Given the description of an element on the screen output the (x, y) to click on. 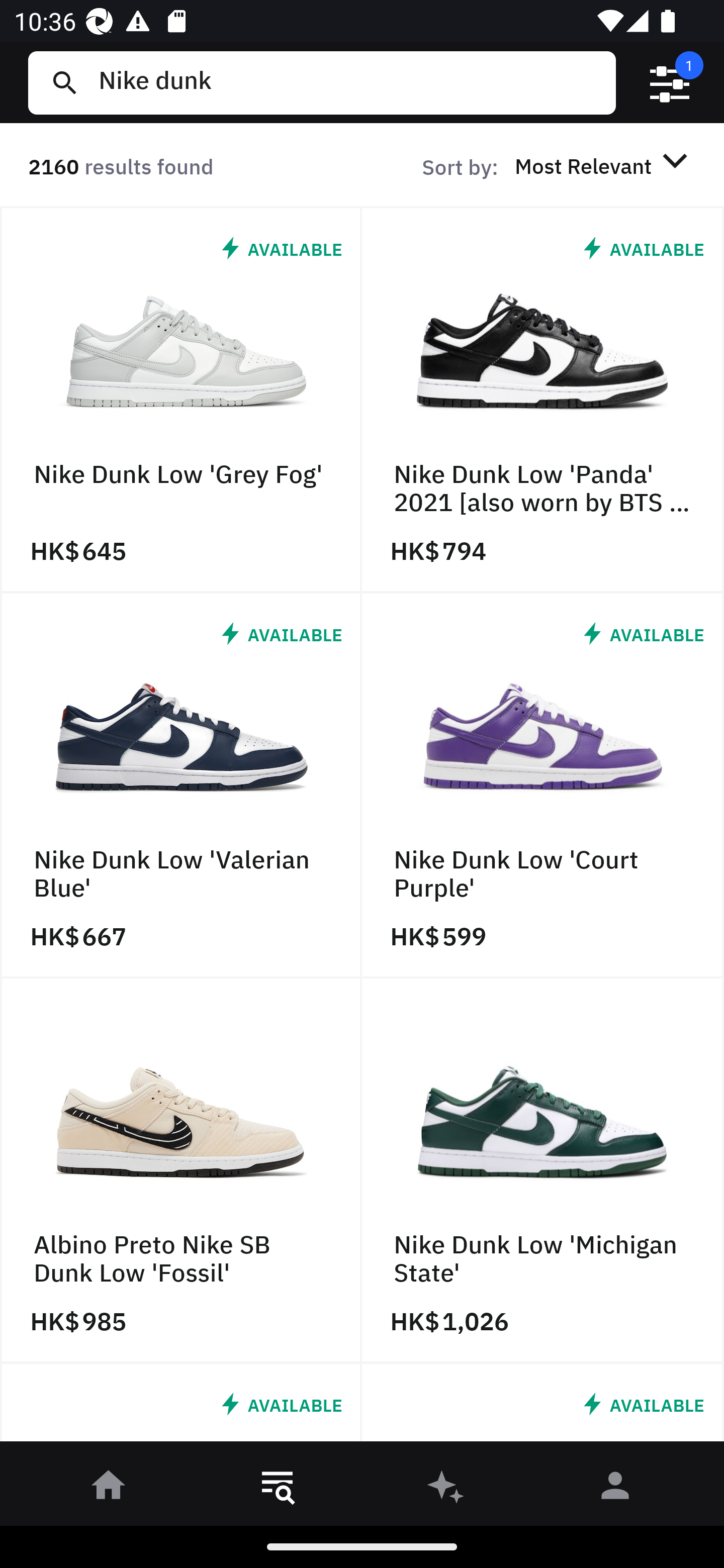
Nike dunk (349, 82)
 (669, 82)
Most Relevant  (604, 165)
 AVAILABLE Nike Dunk Low 'Grey Fog' HK$ 645 (181, 399)
 AVAILABLE Nike Dunk Low 'Valerian Blue' HK$ 667 (181, 785)
 AVAILABLE Nike Dunk Low 'Court Purple' HK$ 599 (543, 785)
Albino Preto Nike SB Dunk Low 'Fossil' HK$ 985 (181, 1171)
Nike Dunk Low 'Michigan State' HK$ 1,026 (543, 1171)
󰋜 (108, 1488)
󱎸 (277, 1488)
󰫢 (446, 1488)
󰀄 (615, 1488)
